Given the description of an element on the screen output the (x, y) to click on. 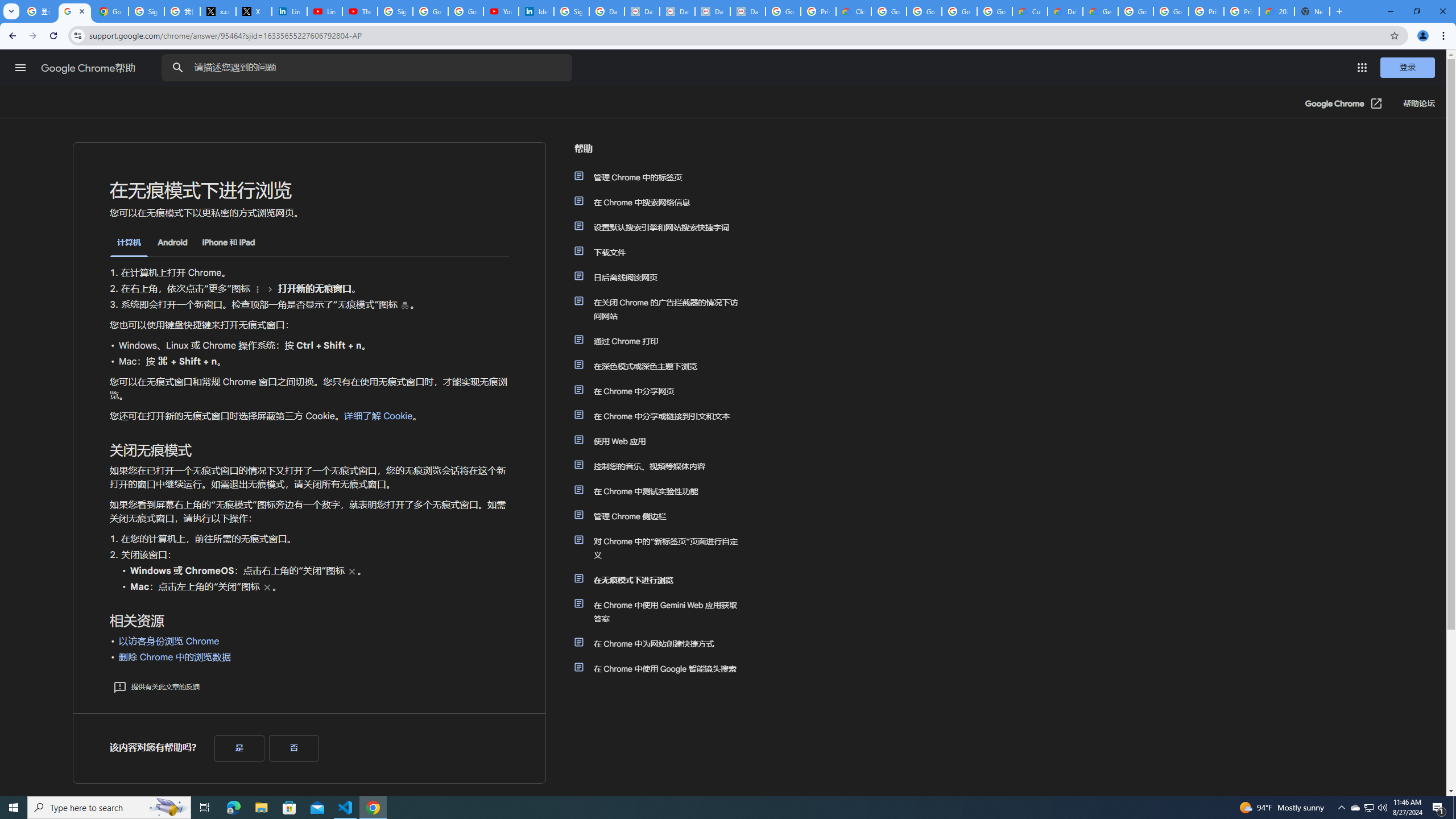
Data Privacy Framework (712, 11)
Google Workspace - Specific Terms (994, 11)
Google Cloud Platform (1135, 11)
Data Privacy Framework (677, 11)
Sign in - Google Accounts (394, 11)
